Given the description of an element on the screen output the (x, y) to click on. 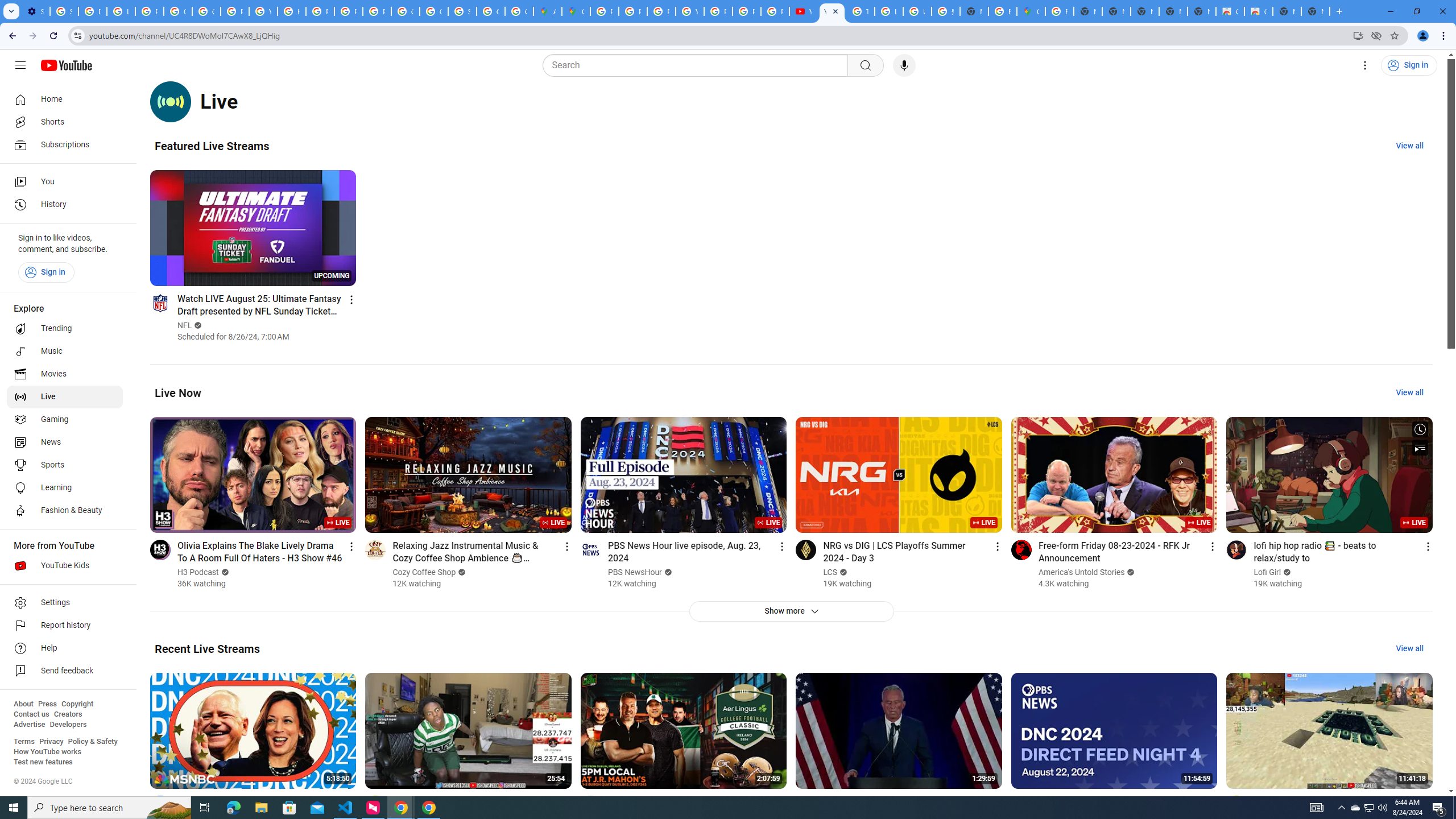
How YouTube works (47, 751)
Advertise (29, 724)
YouTube (263, 11)
Lofi Girl (1267, 572)
Movies (64, 373)
Privacy Help Center - Policies Help (661, 11)
News (64, 441)
Settings (64, 602)
Settings - On startup (35, 11)
